Given the description of an element on the screen output the (x, y) to click on. 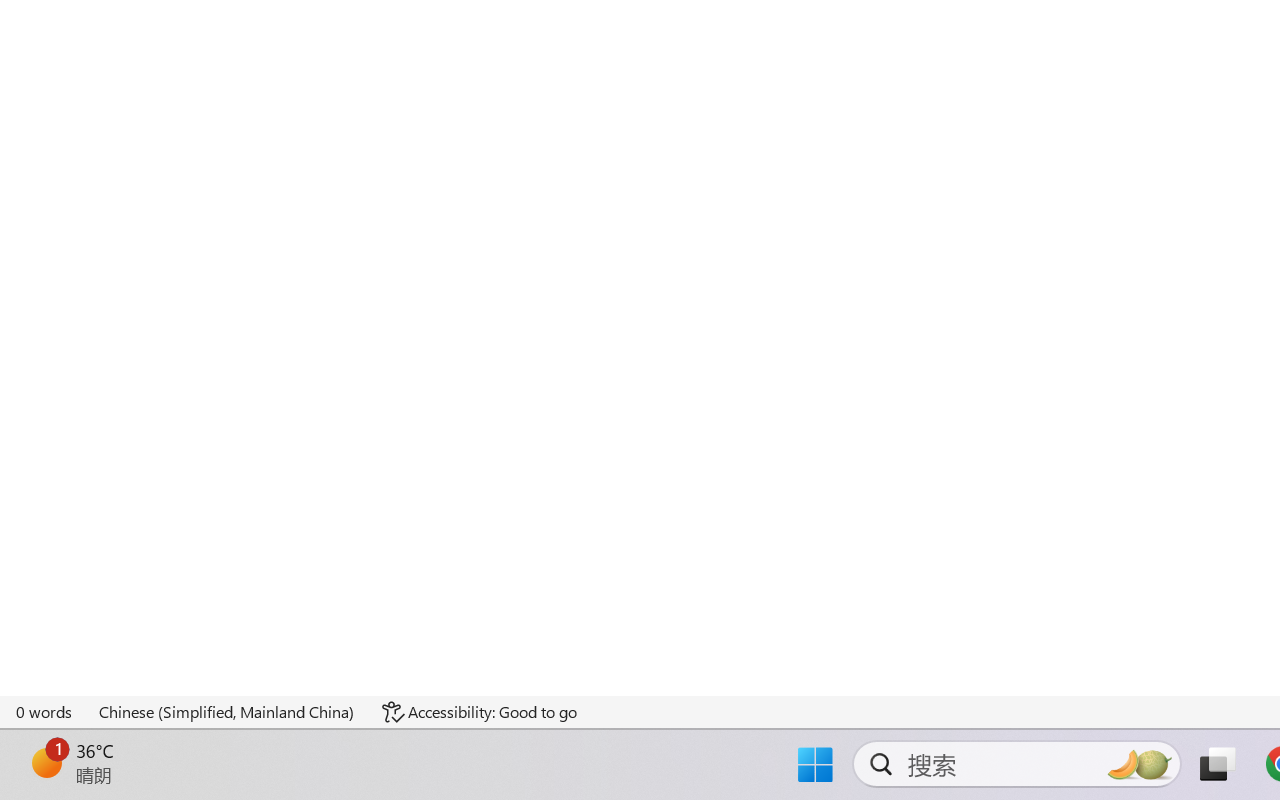
Language Chinese (Simplified, Mainland China) (227, 712)
